Given the description of an element on the screen output the (x, y) to click on. 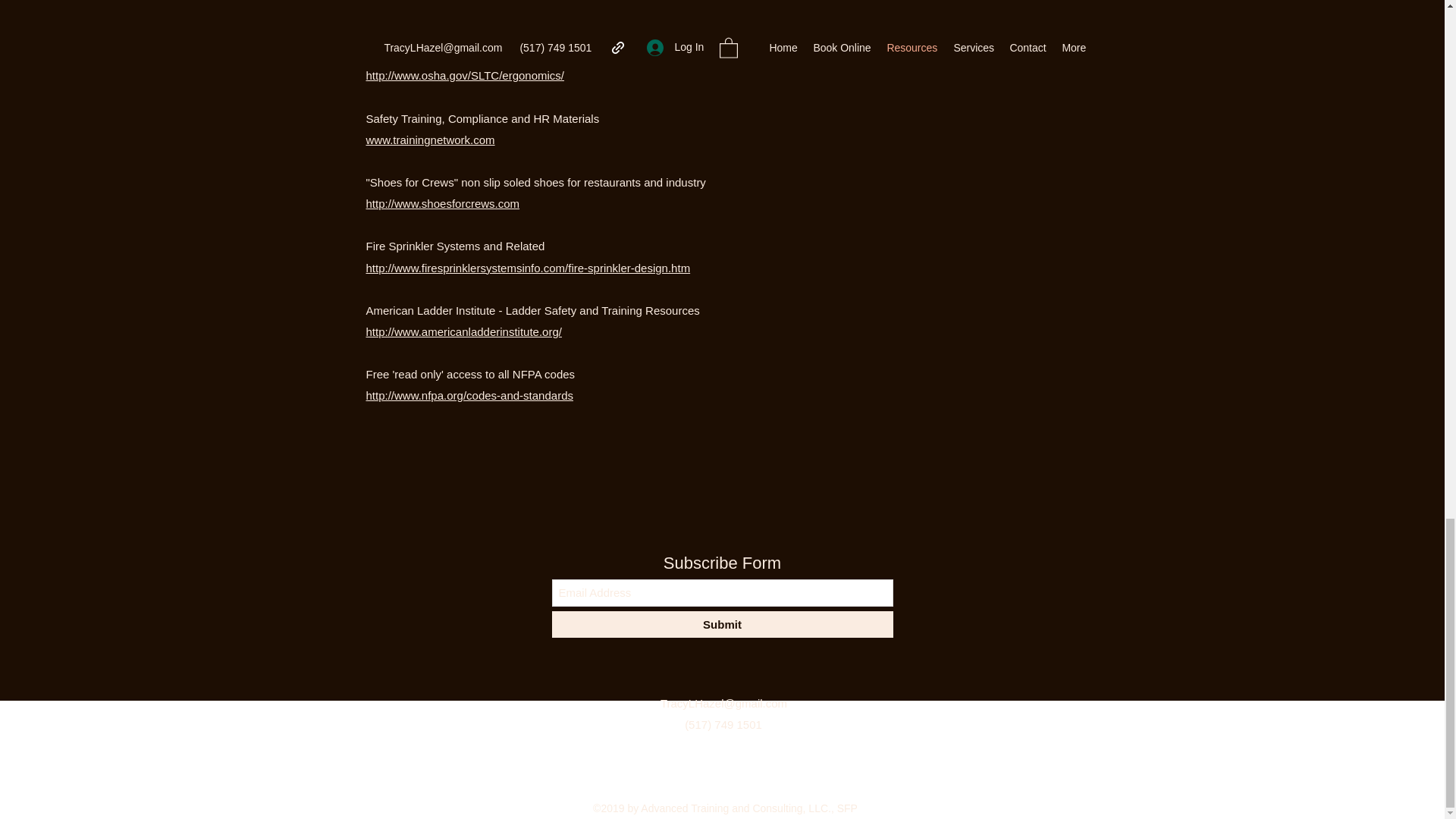
Submit (722, 624)
www.trainingnetwork.com (430, 139)
